Given the description of an element on the screen output the (x, y) to click on. 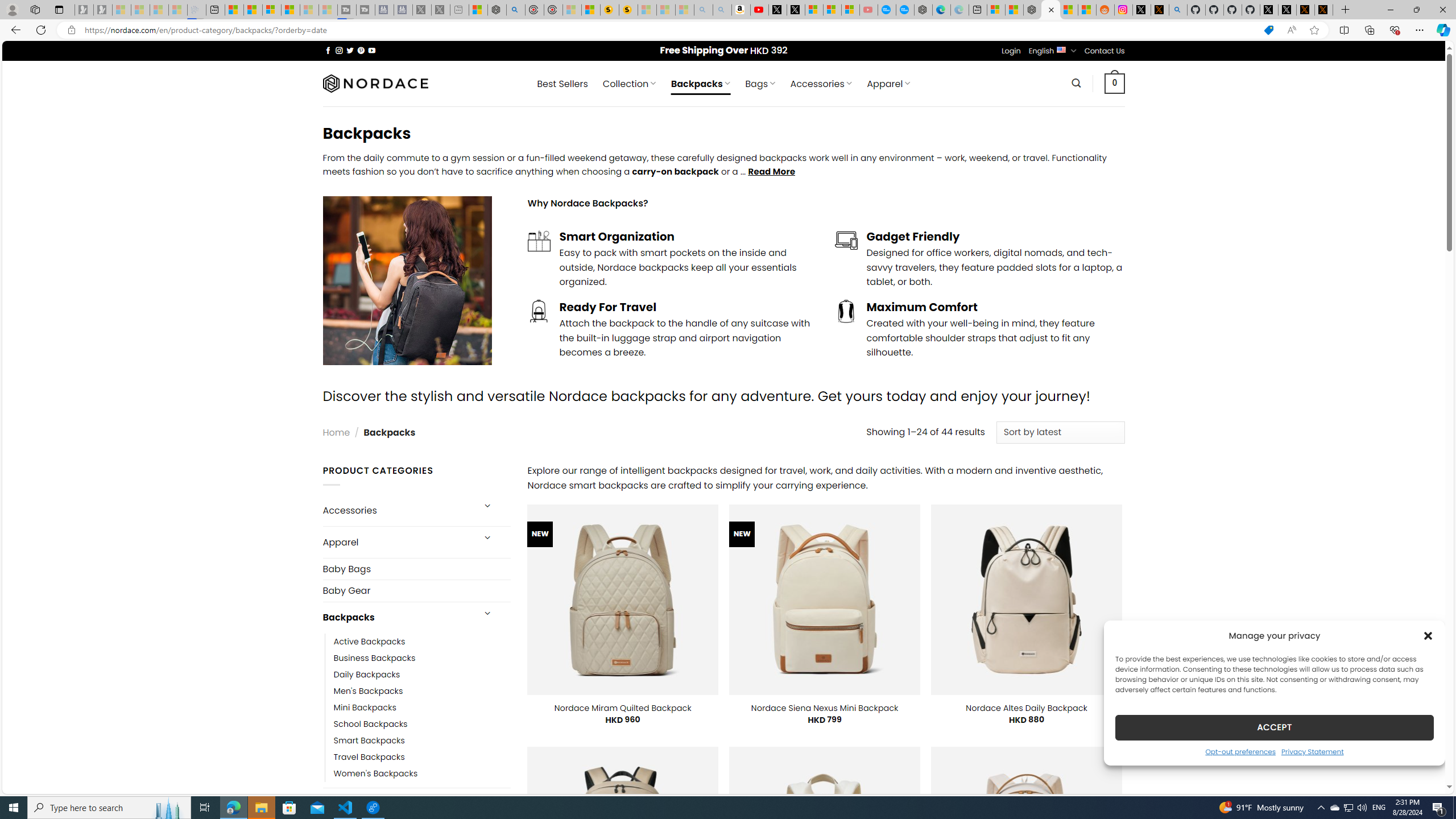
Contact Us (1104, 50)
Home (335, 431)
School Backpacks (422, 723)
English (1061, 49)
New tab - Sleeping (459, 9)
Log in to X / X (1142, 9)
X Privacy Policy (1324, 9)
